Given the description of an element on the screen output the (x, y) to click on. 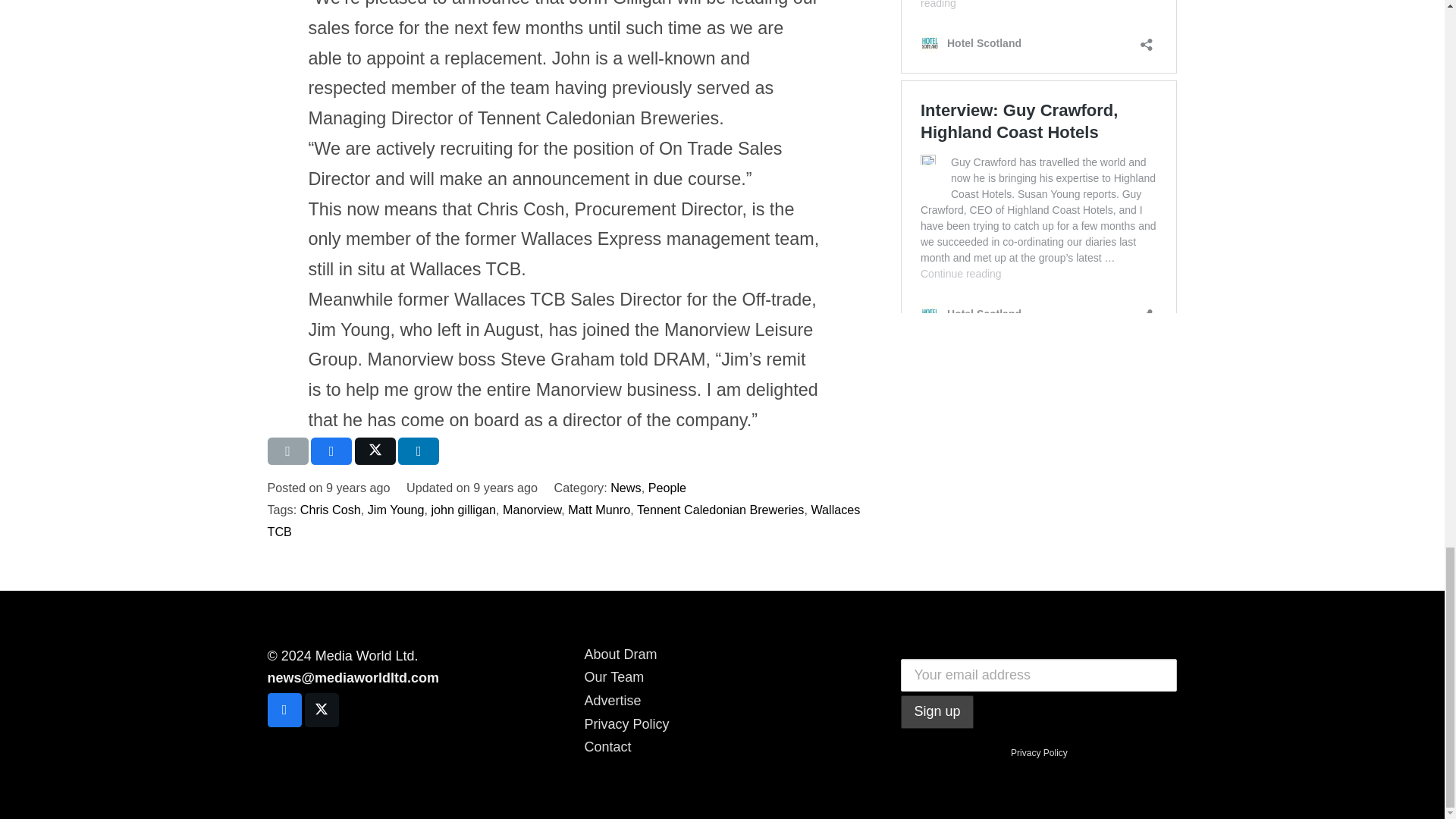
People (666, 487)
Facebook (283, 709)
Tweet this (375, 451)
Tennent Caledonian Breweries (720, 509)
Manorview (531, 509)
Share this (418, 451)
News (625, 487)
Twitter (321, 709)
Sign up (936, 711)
Share this (331, 451)
